Given the description of an element on the screen output the (x, y) to click on. 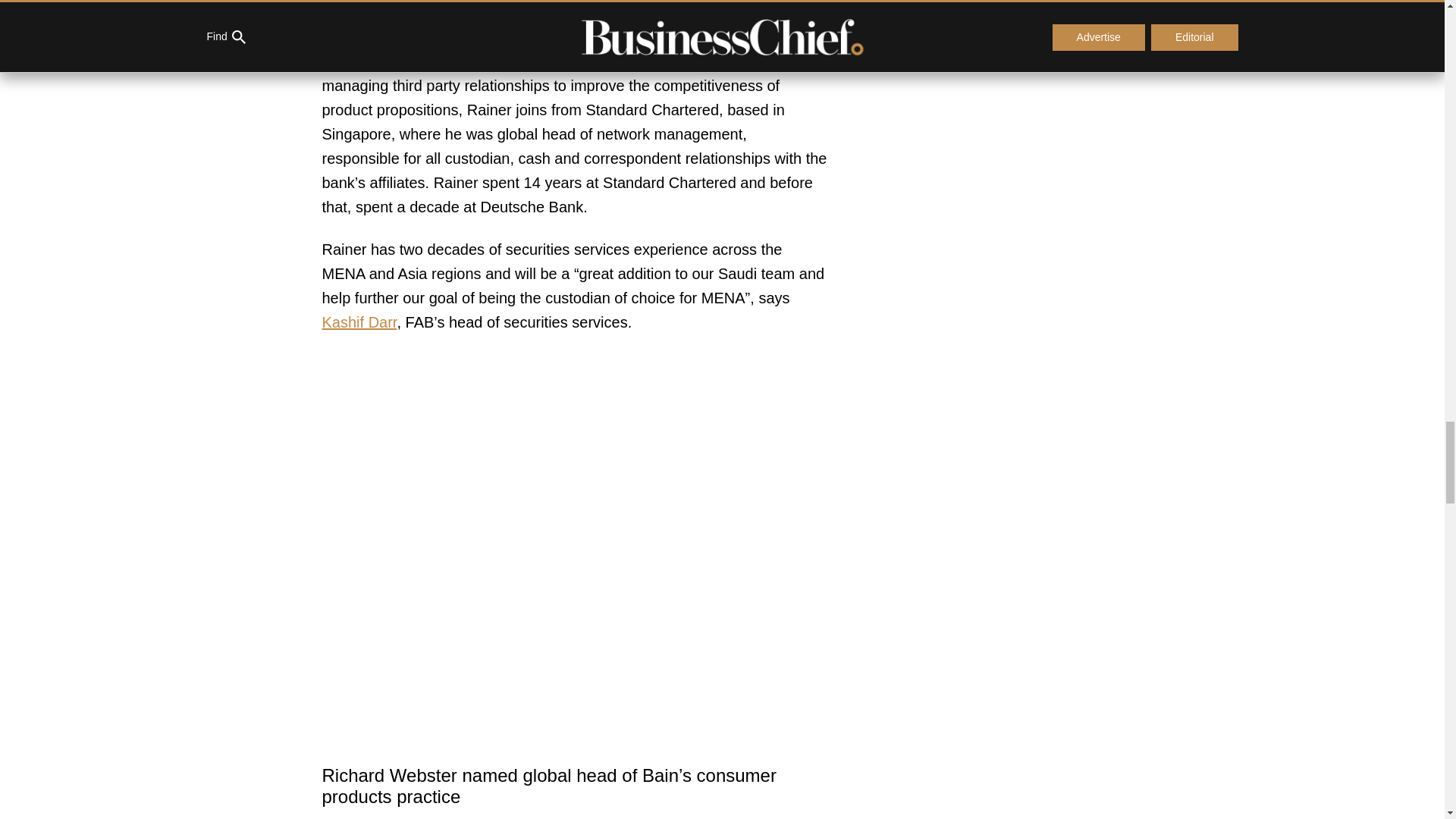
Kashif Darr (358, 321)
